Given the description of an element on the screen output the (x, y) to click on. 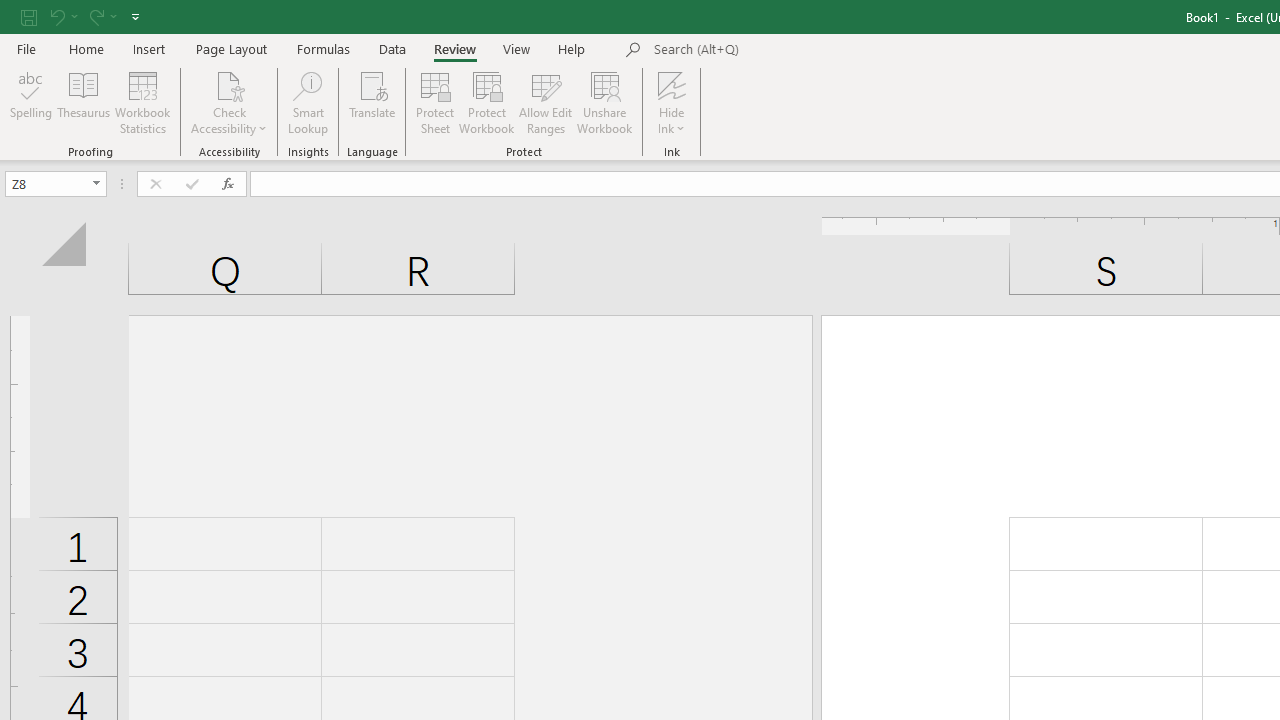
Allow Edit Ranges (545, 102)
Thesaurus... (83, 102)
Protect Sheet... (434, 102)
Protect Workbook... (486, 102)
